Given the description of an element on the screen output the (x, y) to click on. 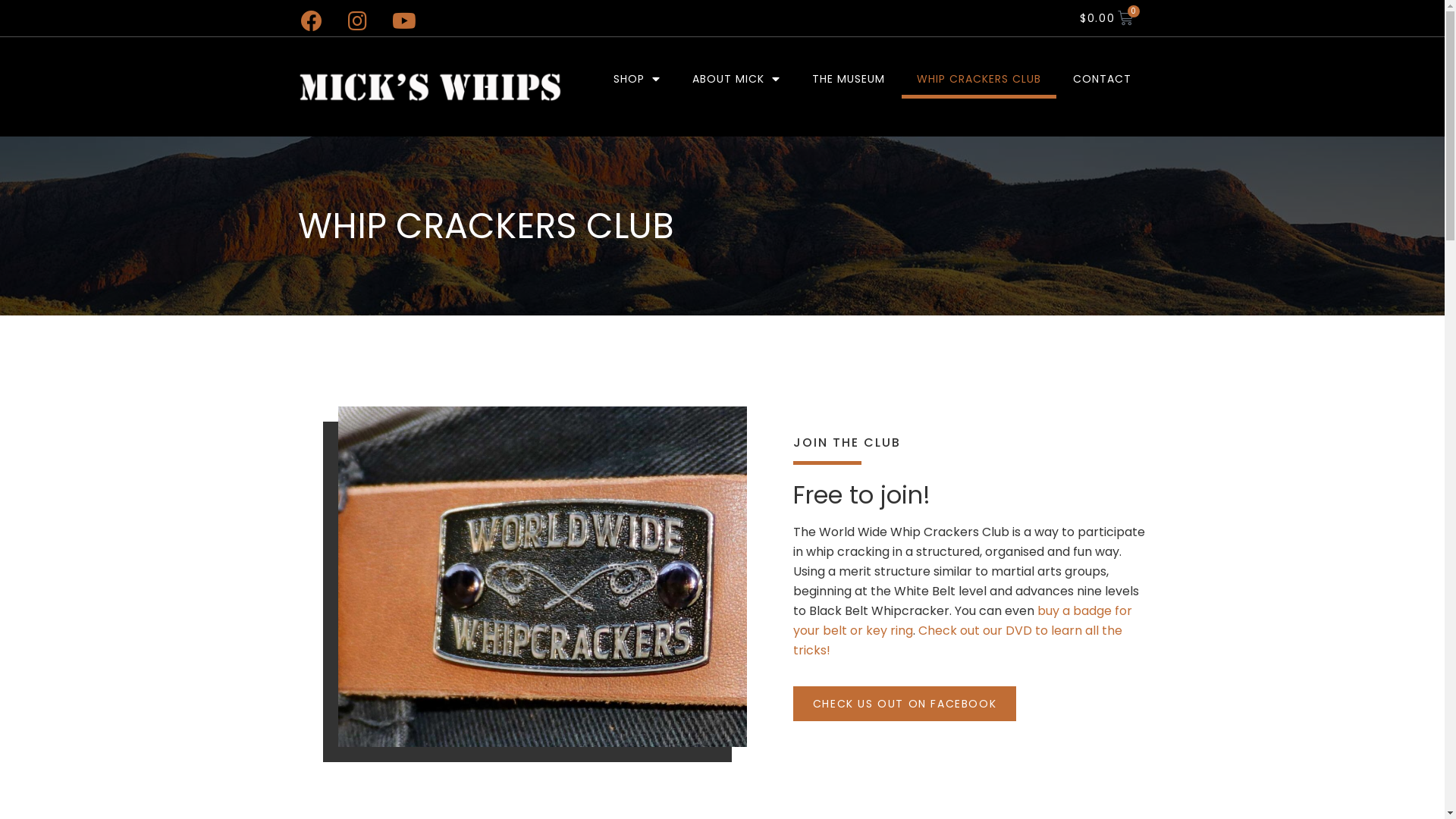
CHECK US OUT ON FACEBOOK Element type: text (904, 703)
THE MUSEUM Element type: text (848, 78)
ABOUT MICK Element type: text (736, 78)
CONTACT Element type: text (1101, 78)
WHIP CRACKERS CLUB Element type: text (978, 78)
buy a badge for your belt or key ring Element type: text (962, 620)
SHOP Element type: text (636, 78)
Check out our DVD to learn all the tricks! Element type: text (957, 639)
$0.00
0 Element type: text (1106, 17)
